Given the description of an element on the screen output the (x, y) to click on. 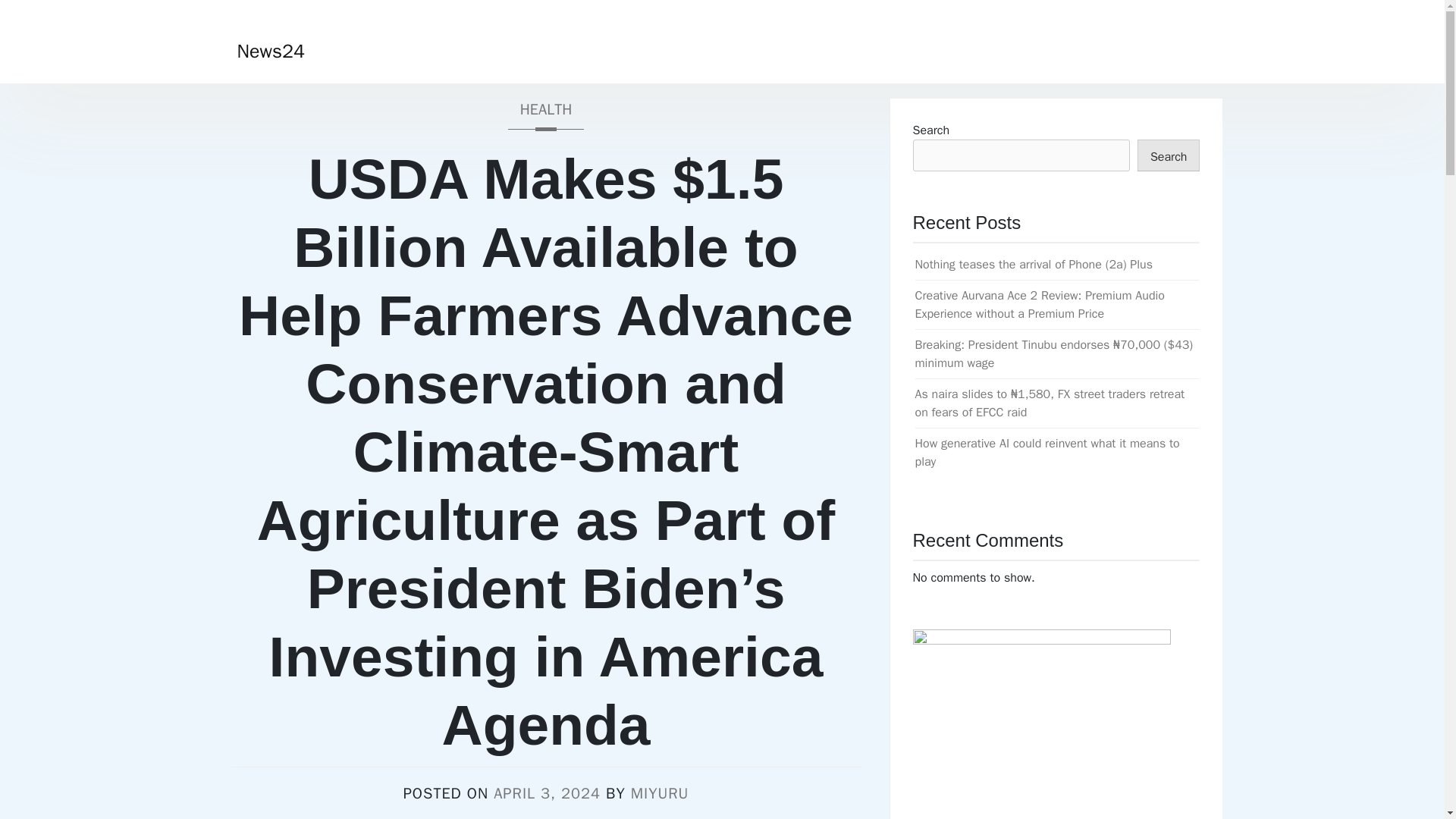
Search (1168, 155)
News24 (269, 51)
How generative AI could reinvent what it means to play (1046, 452)
MIYURU (659, 793)
HEALTH (545, 114)
APRIL 3, 2024 (546, 793)
